Given the description of an element on the screen output the (x, y) to click on. 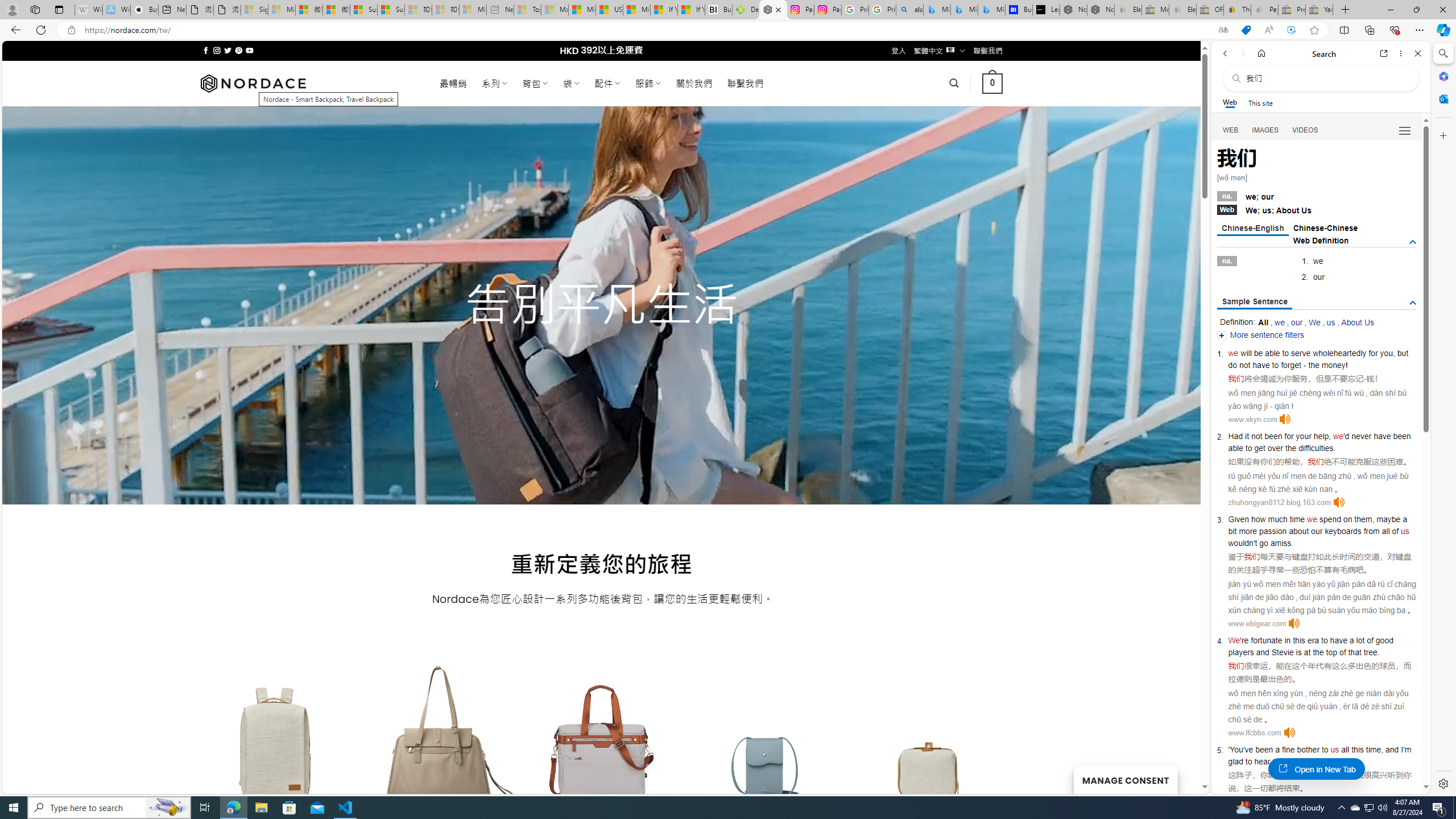
a bit (1316, 524)
Microsoft Bing Travel - Flights from Hong Kong to Bangkok (936, 9)
Follow on Twitter (227, 50)
Chinese-Chinese (1325, 227)
Sign in to your Microsoft account - Sleeping (254, 9)
era (1313, 640)
Click to listen (1289, 732)
wholeheartedly (1340, 352)
